Given the description of an element on the screen output the (x, y) to click on. 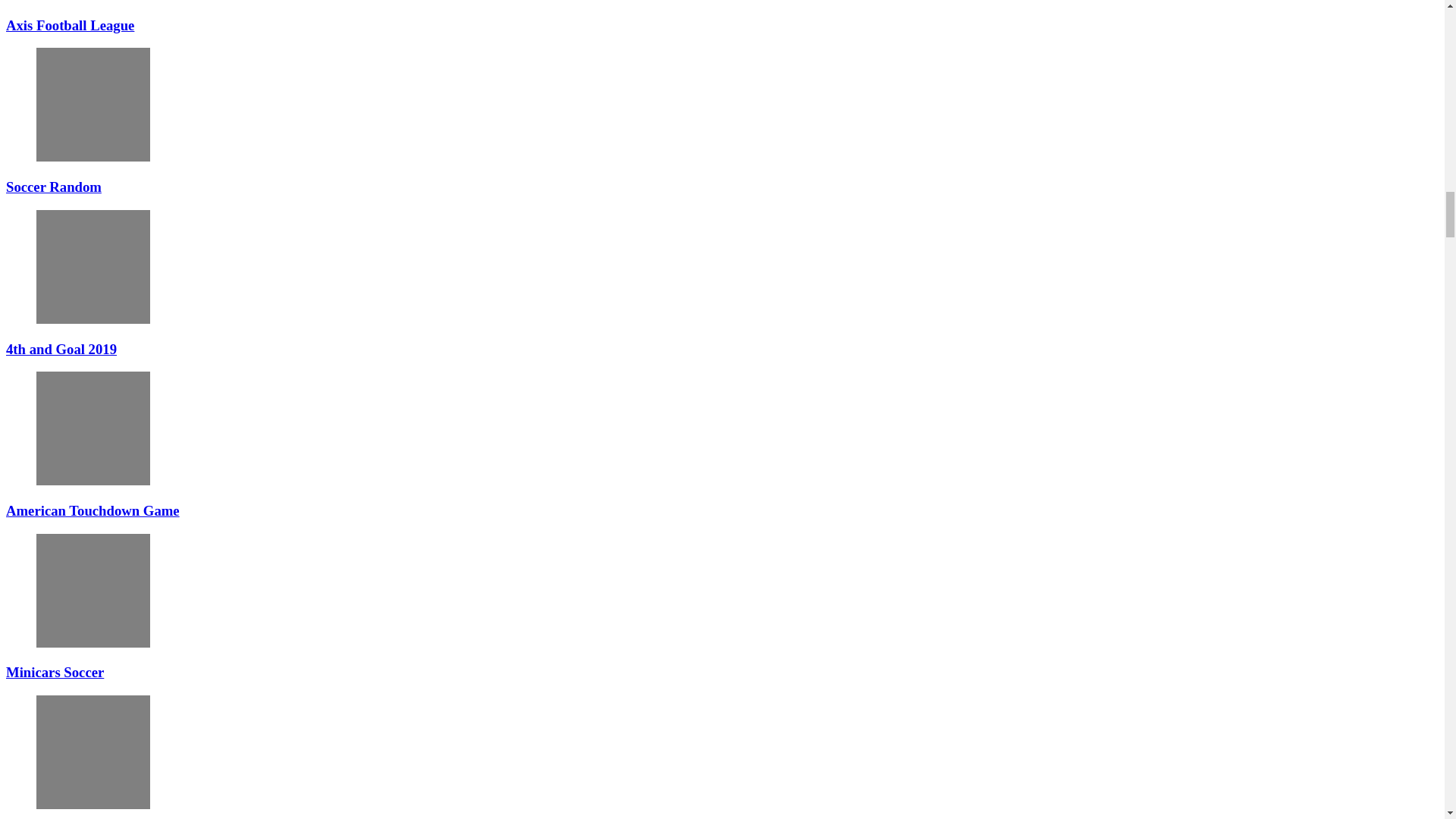
Soccer Random (92, 104)
4th and Goal 2019 (92, 266)
Minicars Soccer (92, 590)
American Touchdown Game (92, 428)
